Given the description of an element on the screen output the (x, y) to click on. 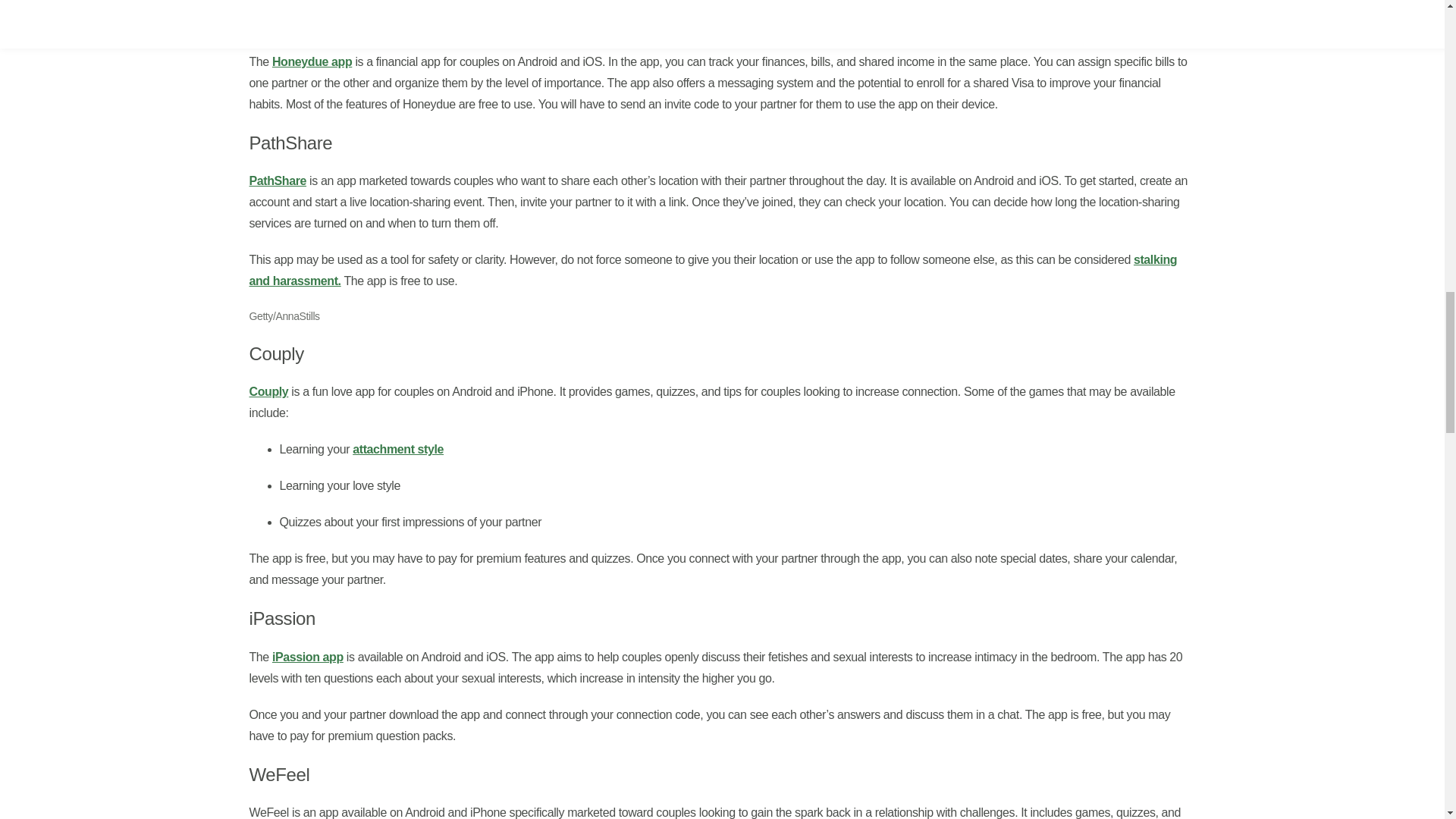
iPassion app (307, 656)
PathShare (276, 180)
attachment style (398, 449)
stalking and harassment. (712, 270)
Honeydue app (312, 61)
Couply (268, 391)
